Given the description of an element on the screen output the (x, y) to click on. 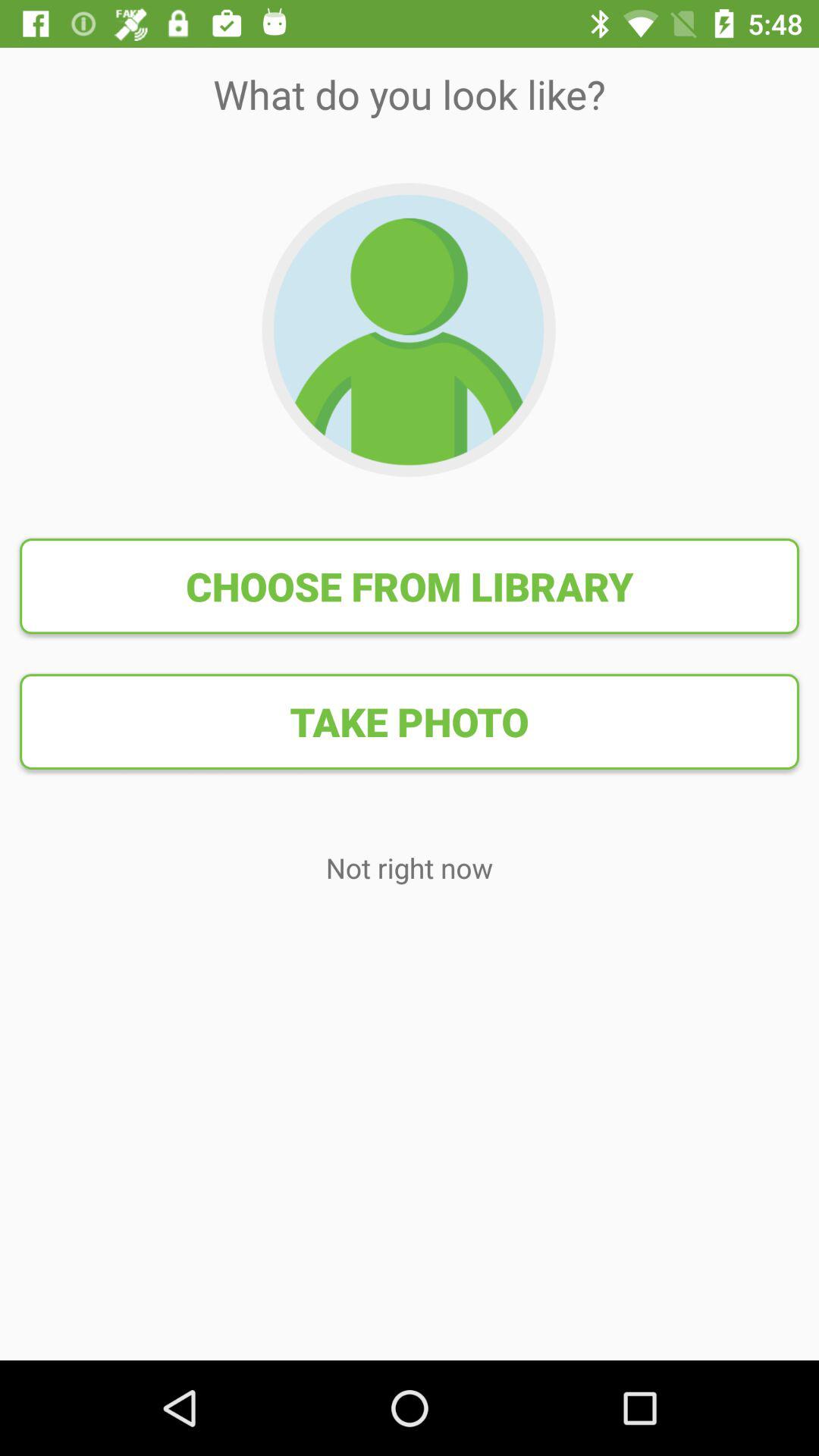
swipe until the take photo item (409, 721)
